Given the description of an element on the screen output the (x, y) to click on. 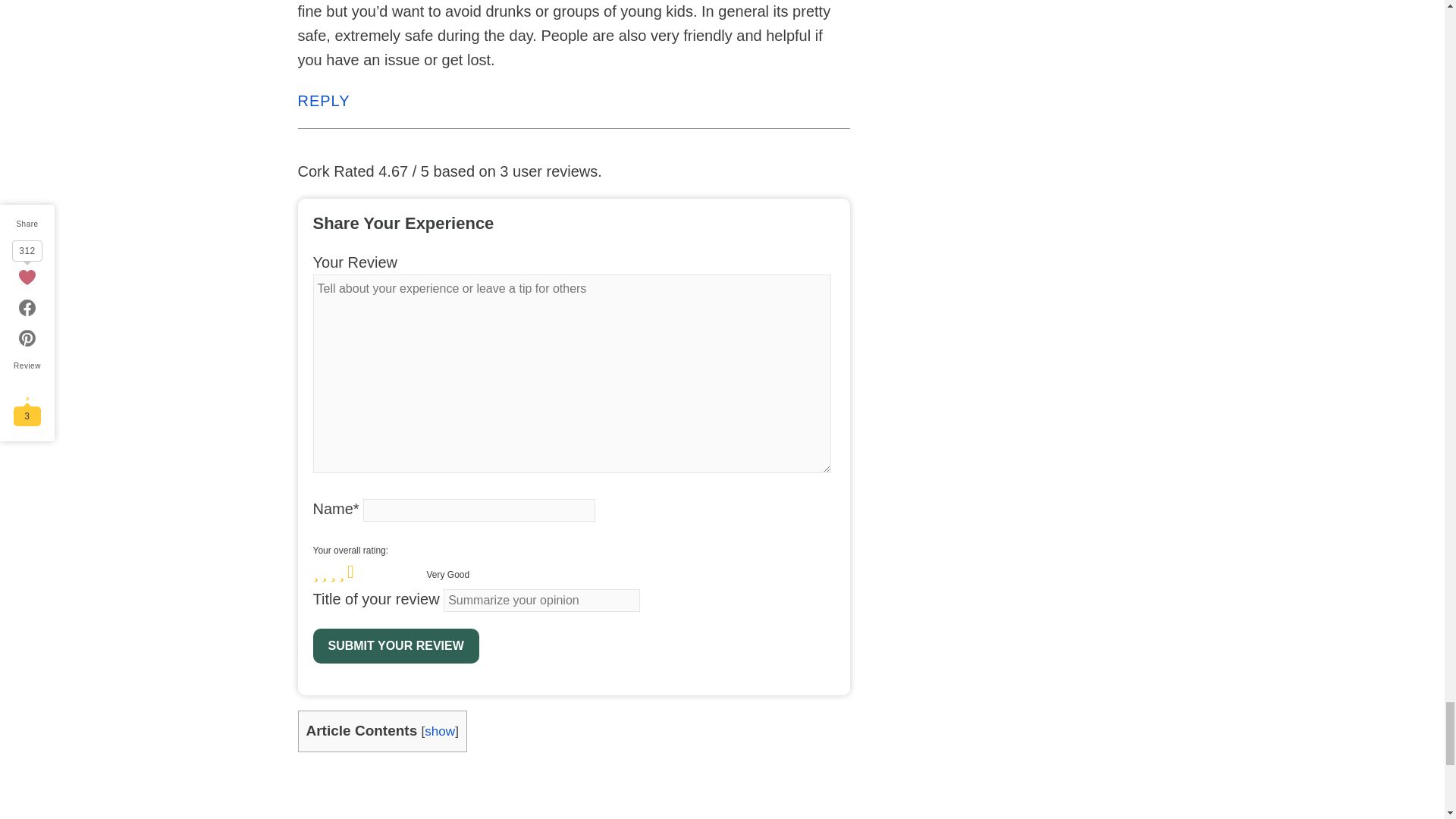
Submit Your Review (396, 645)
